Given the description of an element on the screen output the (x, y) to click on. 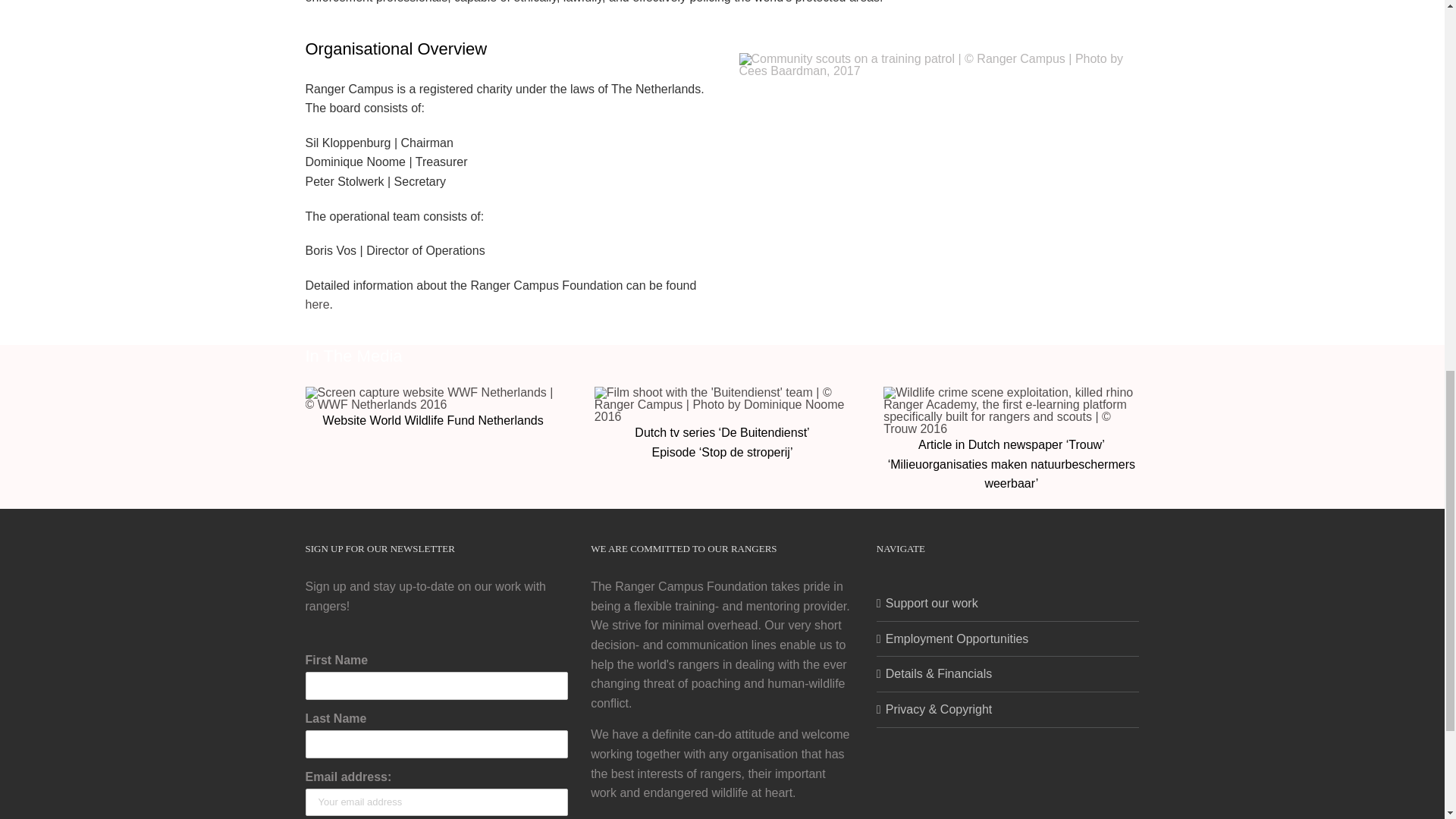
Employment Opportunities (1008, 639)
here (316, 304)
Support our work (1008, 603)
donate now (745, 818)
